Given the description of an element on the screen output the (x, y) to click on. 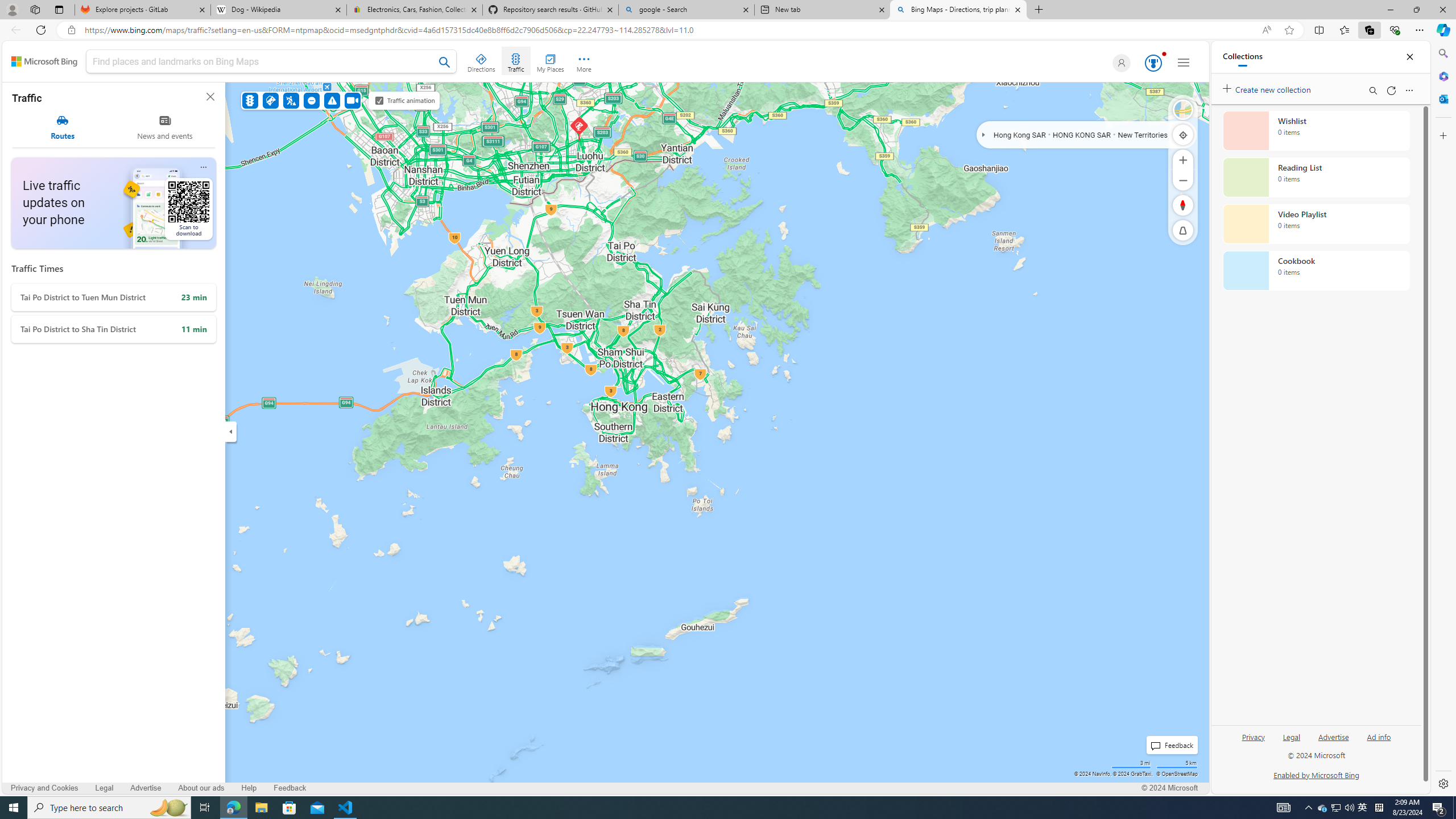
Video Playlist collection, 0 items (1316, 223)
Cookbook collection, 0 items (1316, 270)
Class: sbElement (43, 60)
Routes (62, 127)
Create new collection (1268, 87)
Directions (481, 60)
More options menu (1409, 90)
Directions (481, 60)
Search Bing Maps (444, 61)
Bird's eye (1182, 109)
Default Profile Picture (1121, 63)
